Given the description of an element on the screen output the (x, y) to click on. 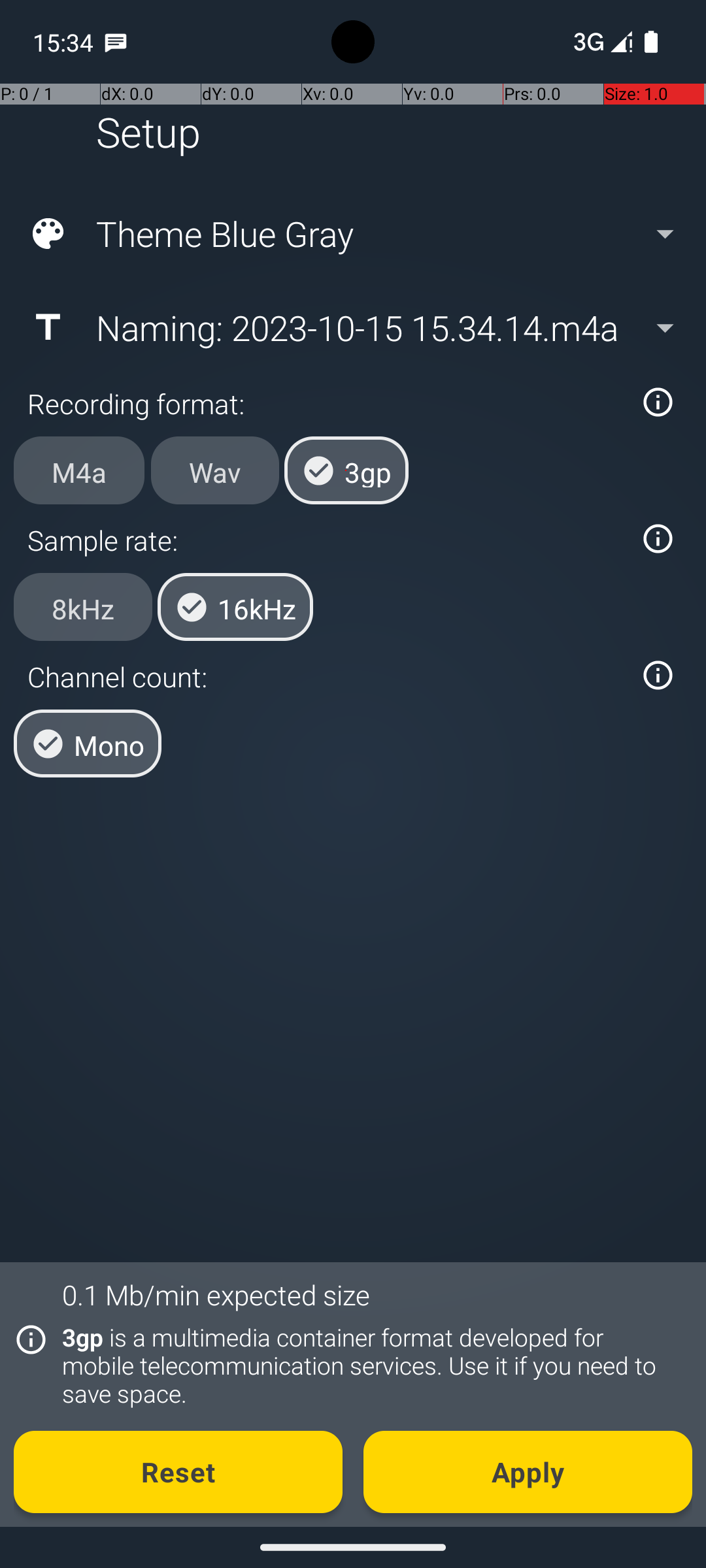
0.1 Mb/min expected size Element type: android.widget.TextView (215, 1294)
3gp is a multimedia container format developed for mobile telecommunication services. Use it if you need to save space. Element type: android.widget.TextView (370, 1364)
Theme Blue Gray Element type: android.widget.TextView (352, 233)
Naming: 2023-10-15 15.34.14.m4a Element type: android.widget.TextView (352, 327)
Phone three bars. Element type: android.widget.FrameLayout (600, 41)
